Given the description of an element on the screen output the (x, y) to click on. 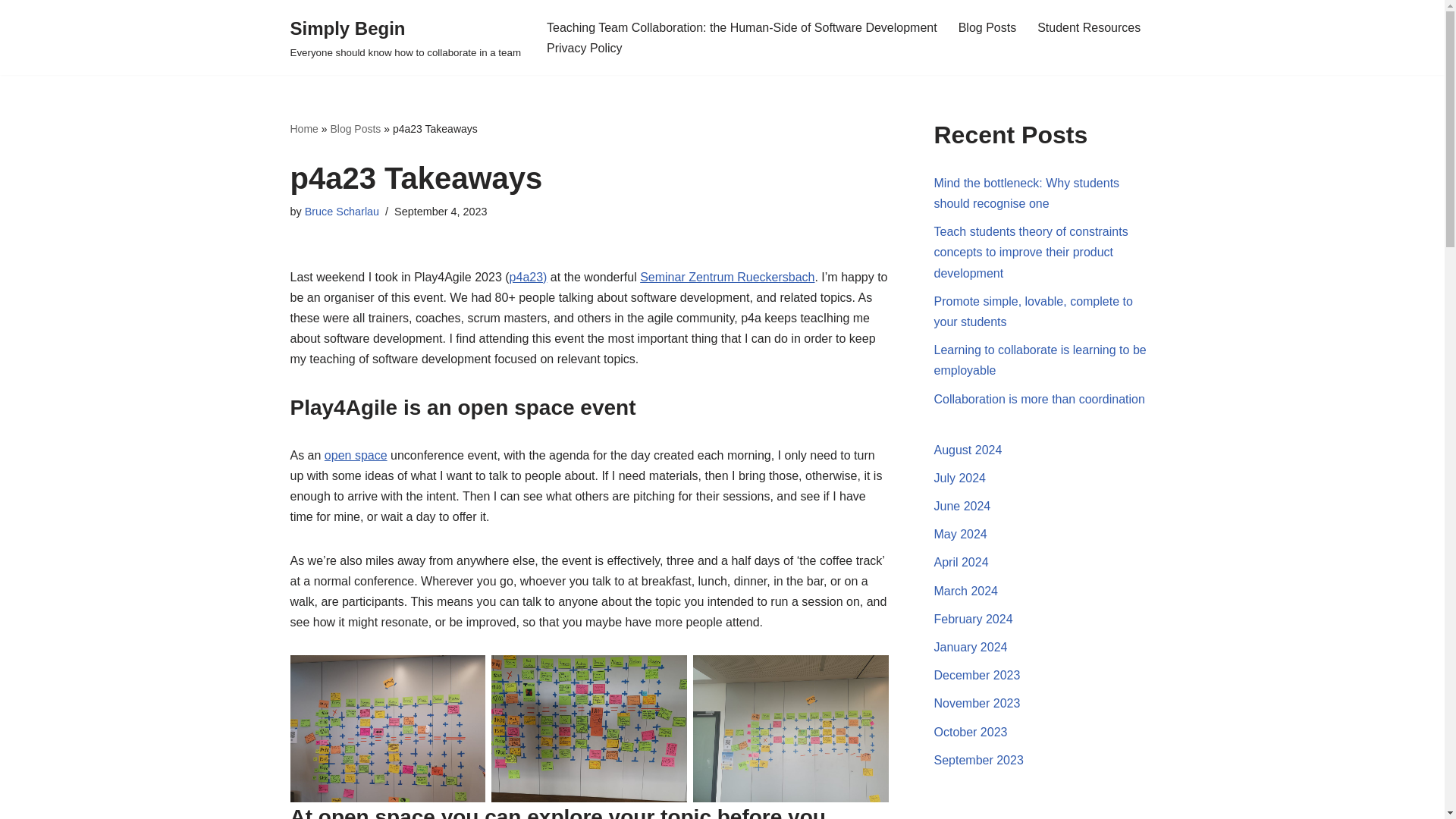
open space (355, 454)
February 2024 (973, 618)
March 2024 (966, 590)
Home (303, 128)
Student Resources (1088, 27)
Bruce Scharlau (341, 211)
Mind the bottleneck: Why students should recognise one (1026, 192)
Blog Posts (987, 27)
January 2024 (970, 646)
